Given the description of an element on the screen output the (x, y) to click on. 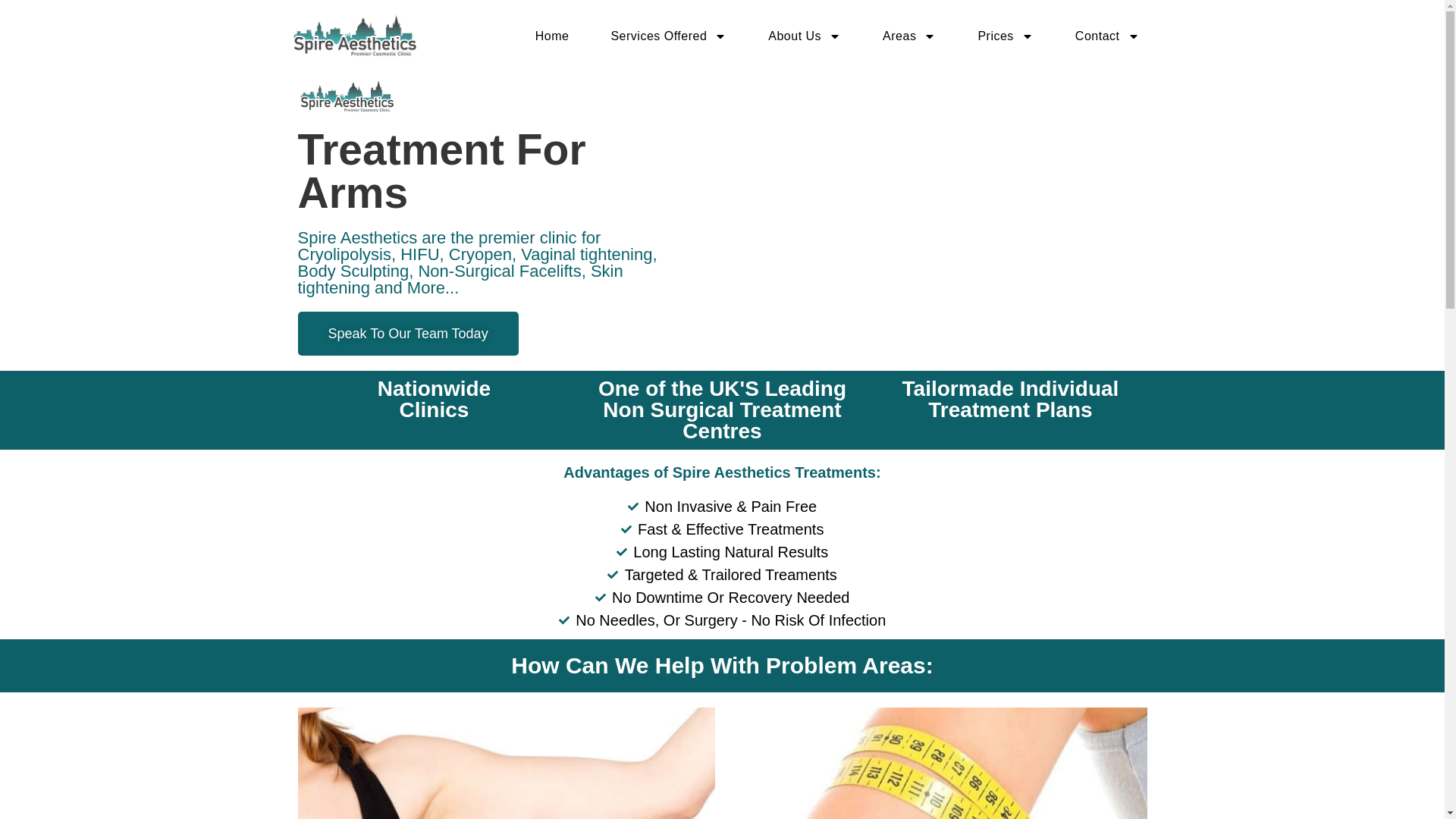
Services Offered (668, 36)
Home (552, 36)
